Given the description of an element on the screen output the (x, y) to click on. 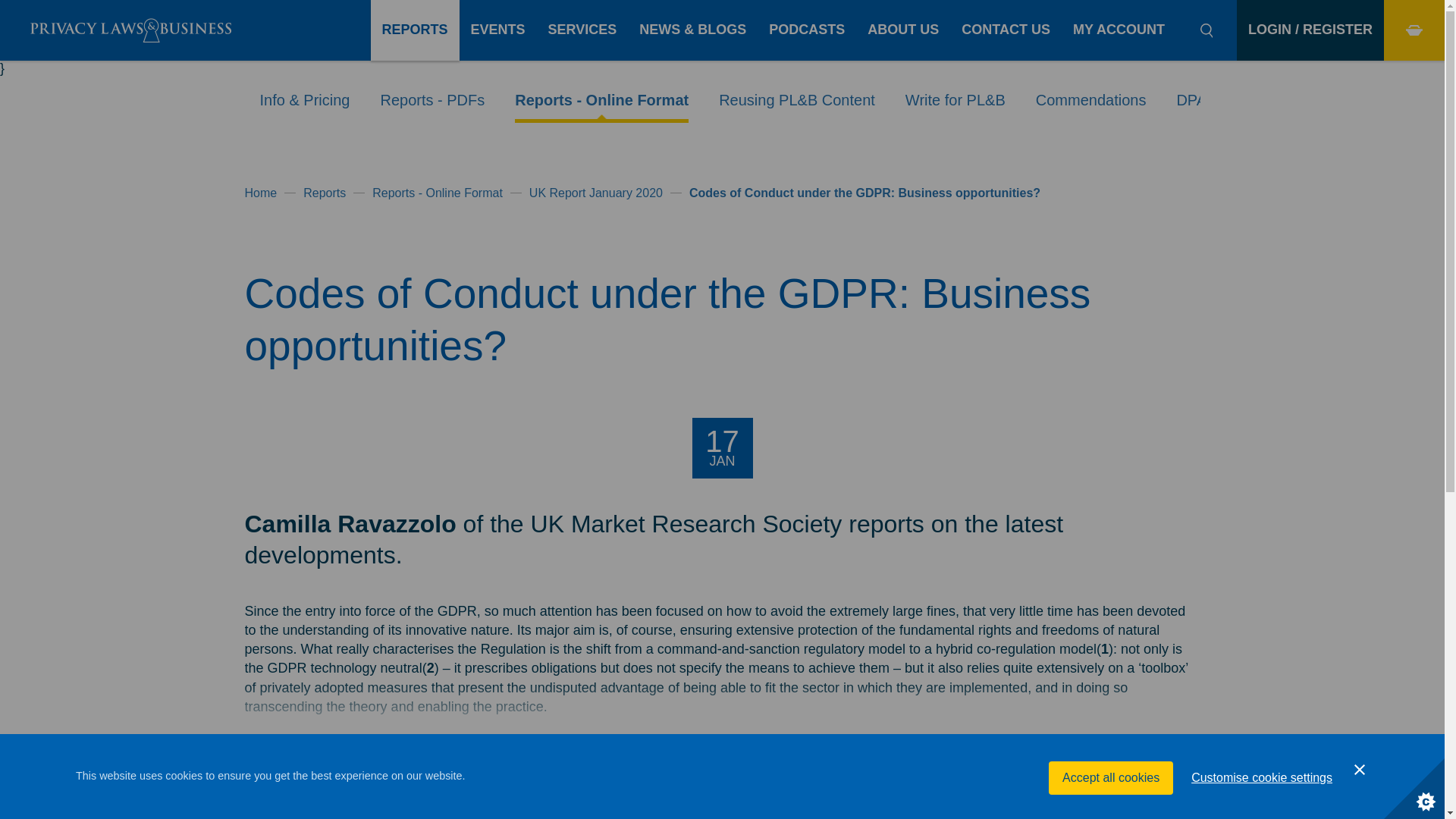
PODCASTS (806, 30)
Subscribe (840, 785)
CONTACT US (1005, 30)
MY ACCOUNT (1118, 30)
SERVICES (582, 30)
Reports - PDFs (432, 99)
ABOUT US (903, 30)
REPORTS (415, 30)
Reports - Online Format (601, 99)
EVENTS (498, 30)
